Given the description of an element on the screen output the (x, y) to click on. 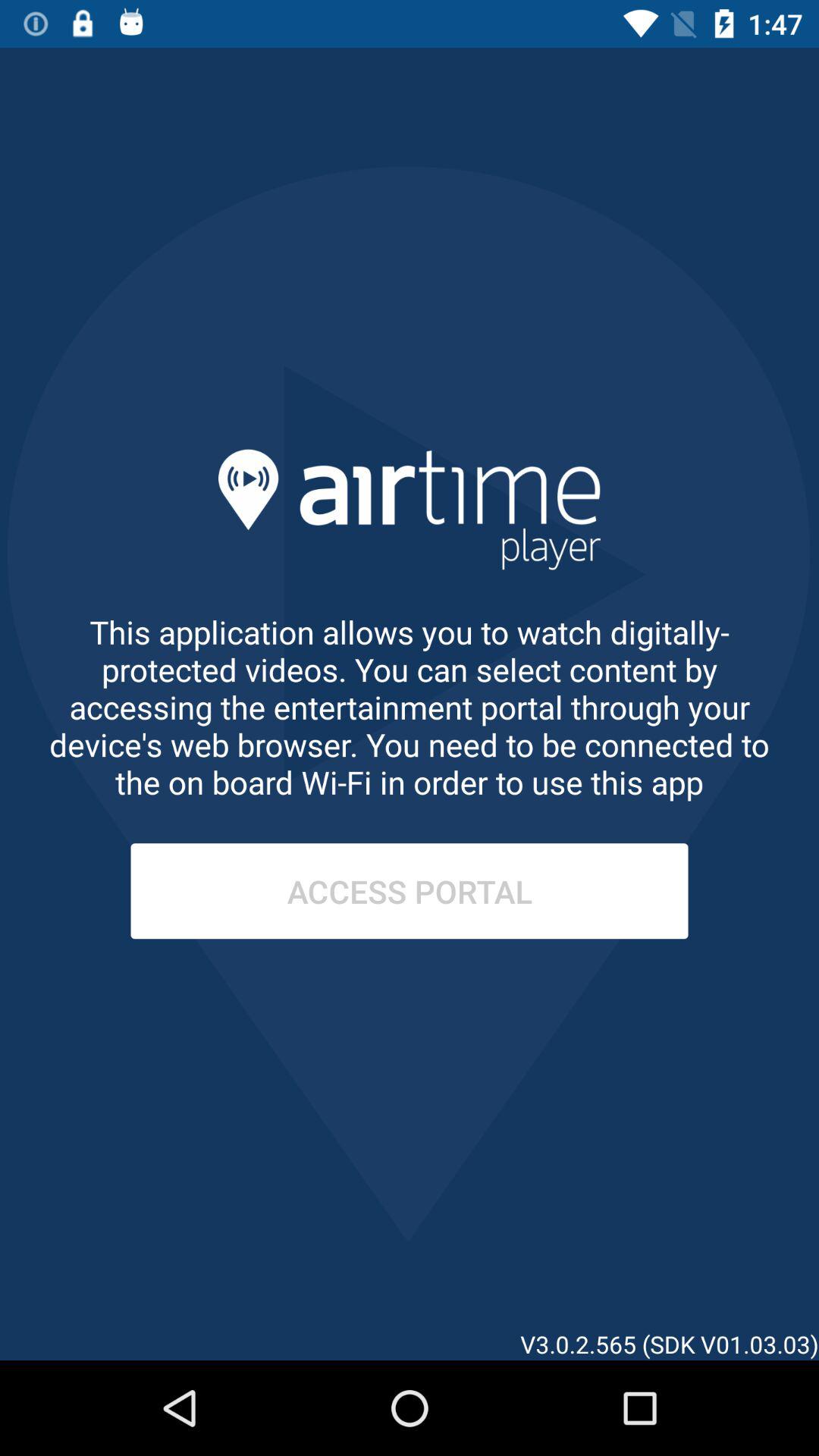
jump to access portal item (409, 891)
